Given the description of an element on the screen output the (x, y) to click on. 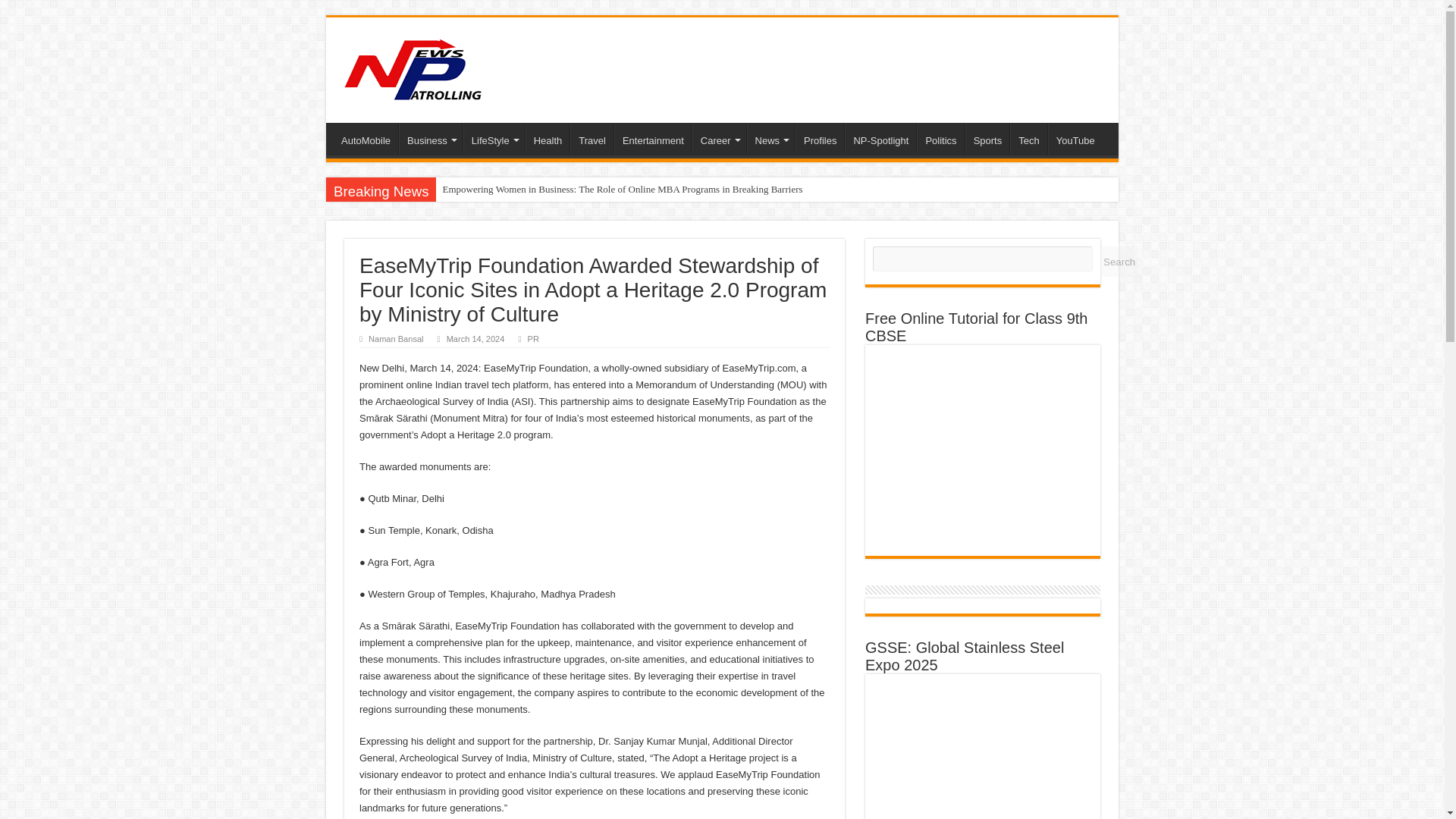
Newspatrolling.com (413, 67)
Health (547, 138)
Travel (591, 138)
Business (430, 138)
LifeStyle (493, 138)
AutoMobile (365, 138)
